Given the description of an element on the screen output the (x, y) to click on. 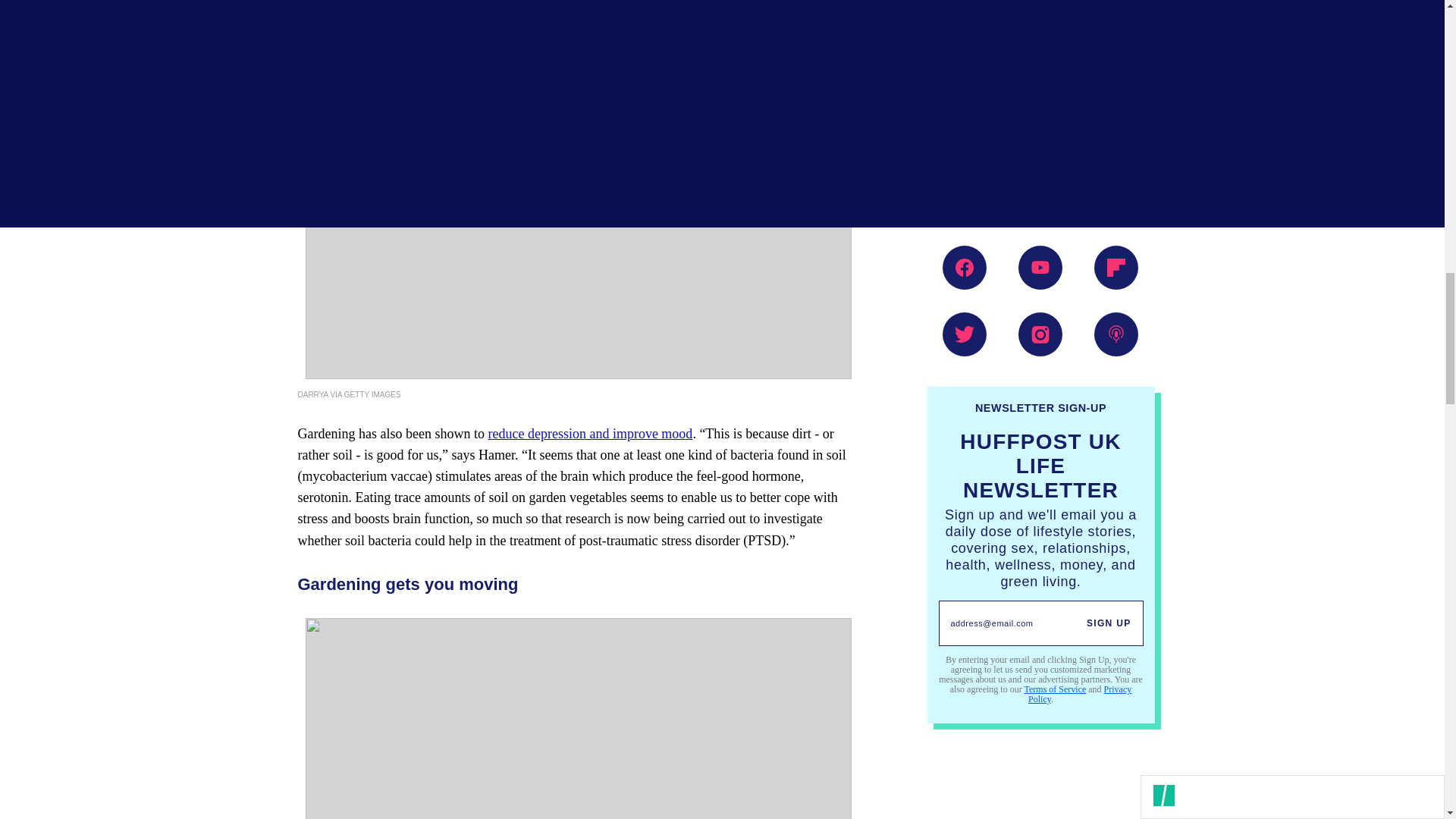
SIGN UP (1108, 623)
